Given the description of an element on the screen output the (x, y) to click on. 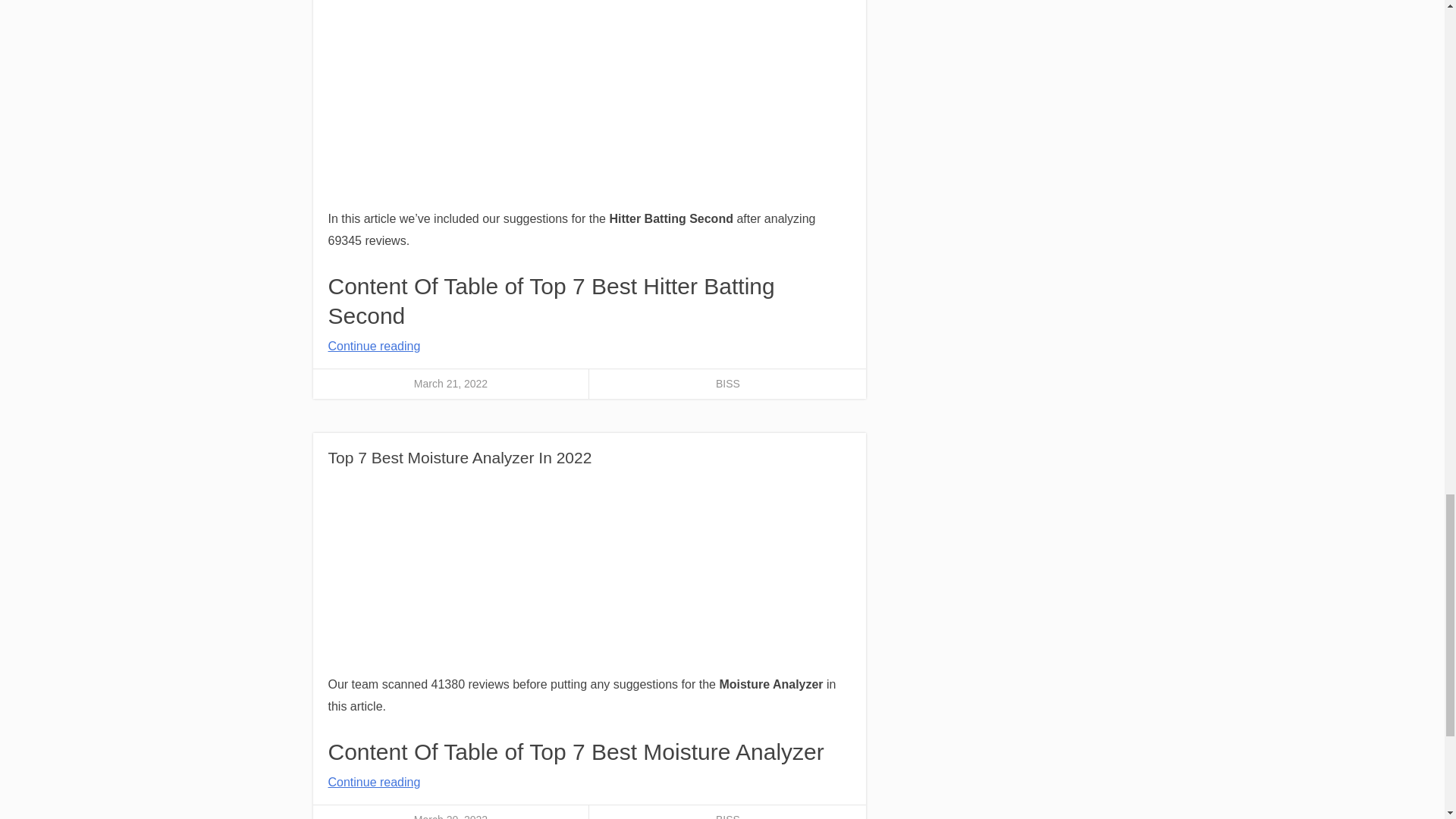
BISS (727, 383)
Continue reading (373, 345)
Top 7 Best Moisture Analyzer In 2022 (459, 457)
